Given the description of an element on the screen output the (x, y) to click on. 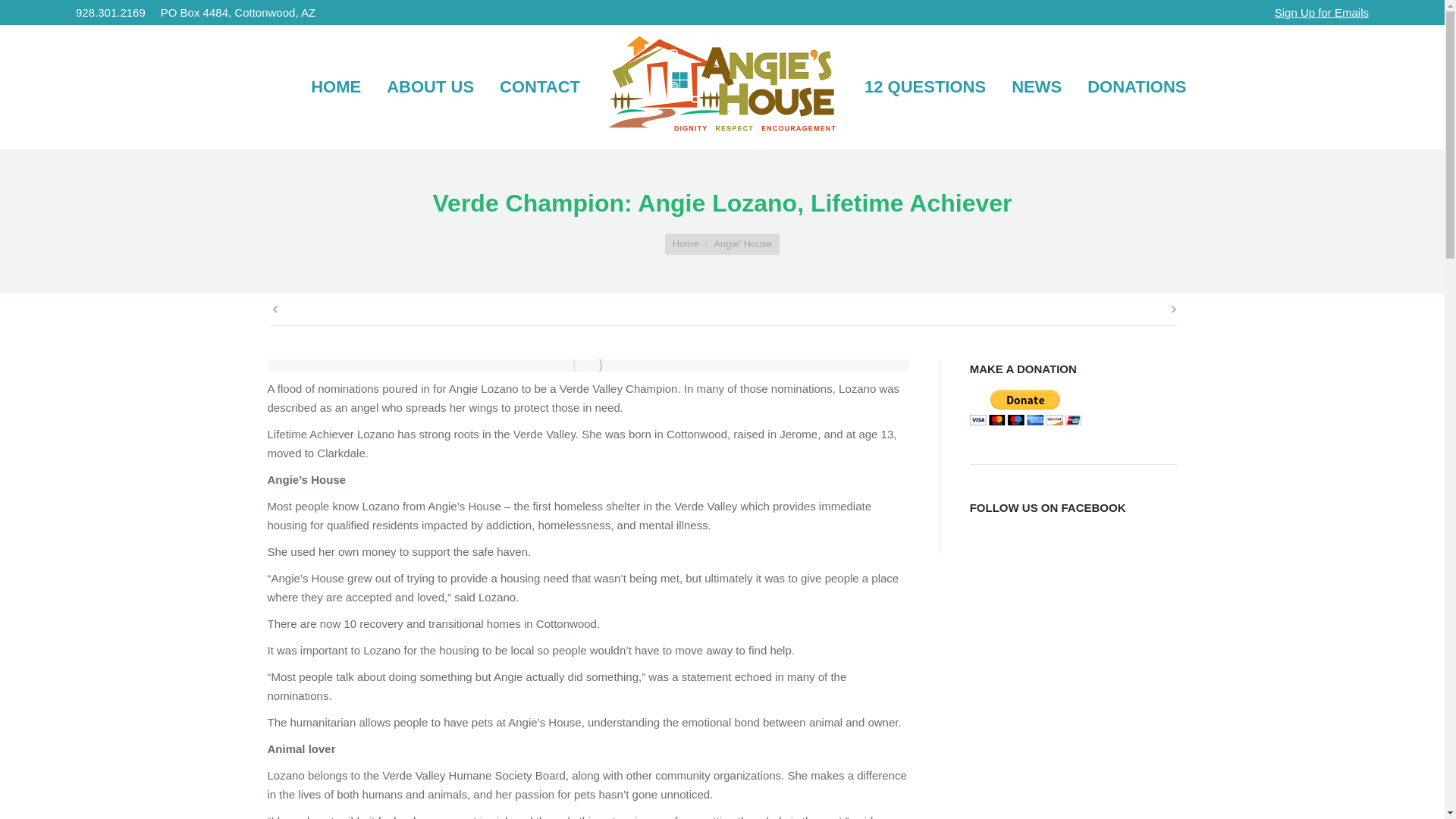
Sign Up for Emails (1321, 11)
Home (685, 243)
12 QUESTIONS (925, 87)
Angie Lozano (586, 365)
Angie' House (742, 243)
DONATIONS (1136, 87)
